Given the description of an element on the screen output the (x, y) to click on. 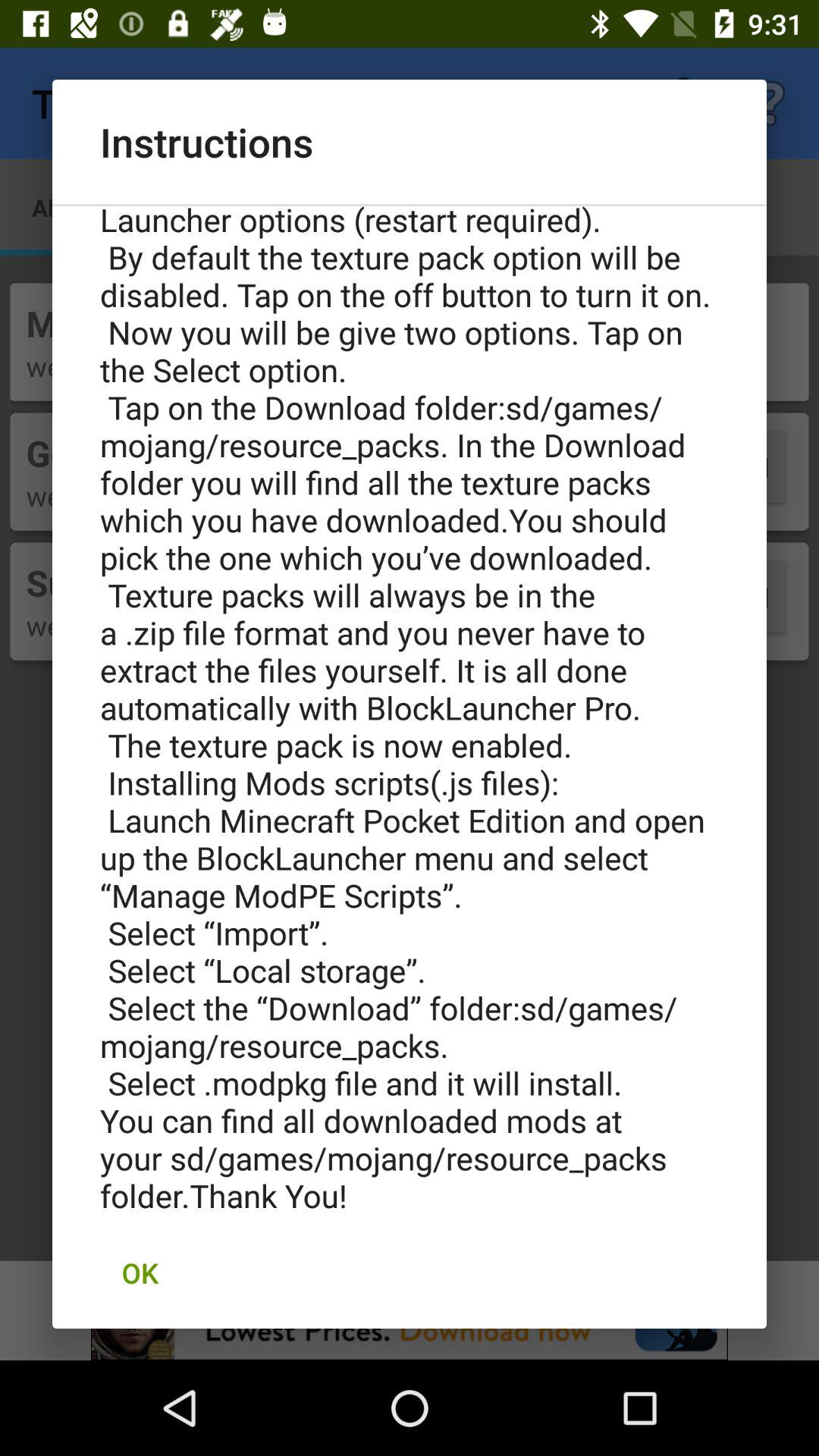
choose ok (139, 1272)
